Given the description of an element on the screen output the (x, y) to click on. 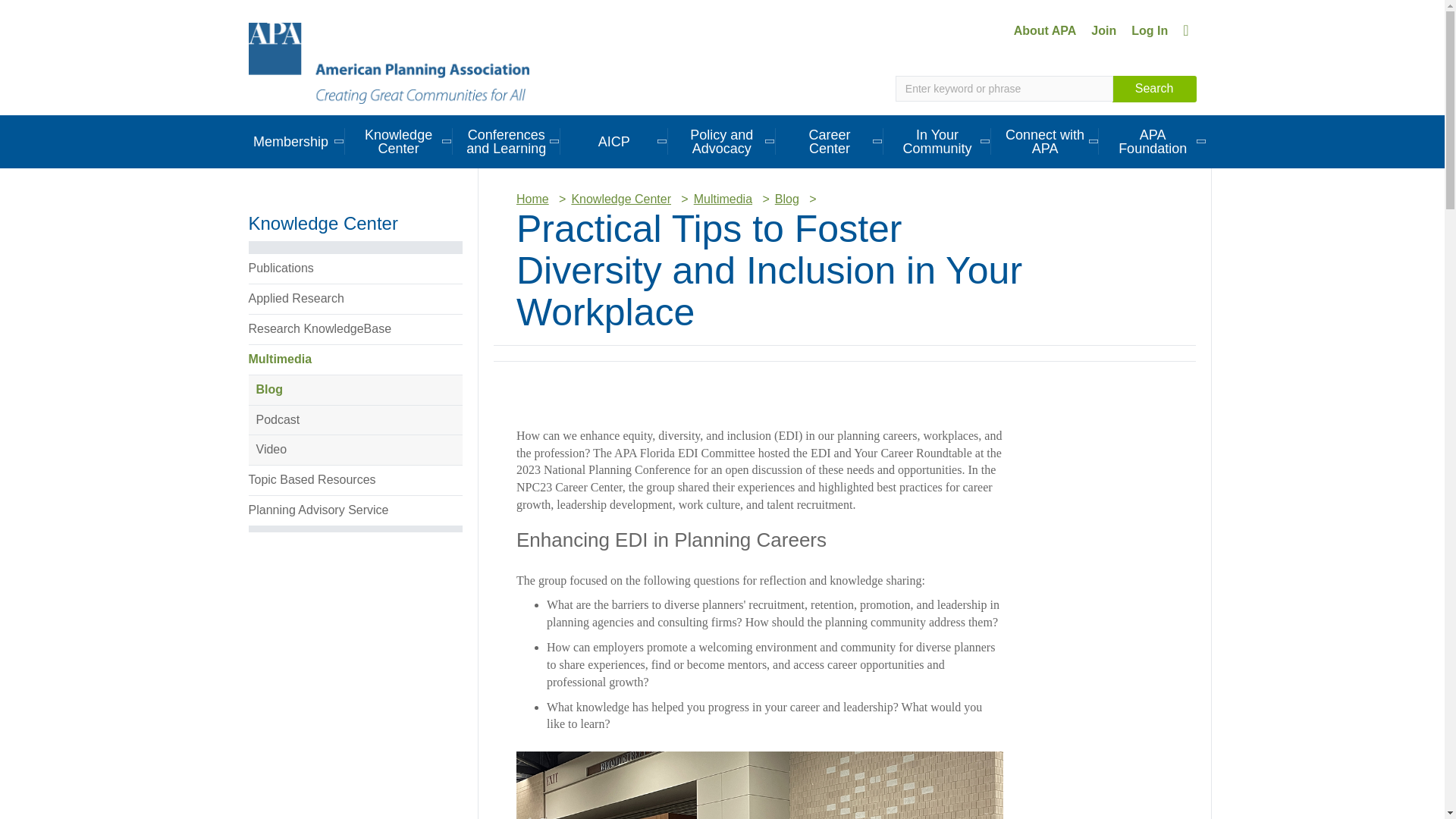
Conferences and Learning (506, 141)
Career Center (829, 141)
Connect with APA (1045, 141)
About APA (1045, 30)
Blog -- Tips to Foster Diversity (759, 785)
Join (1103, 30)
Knowledge Center (398, 141)
Search (1154, 89)
In Your Community (937, 141)
APA Home (388, 62)
